Given the description of an element on the screen output the (x, y) to click on. 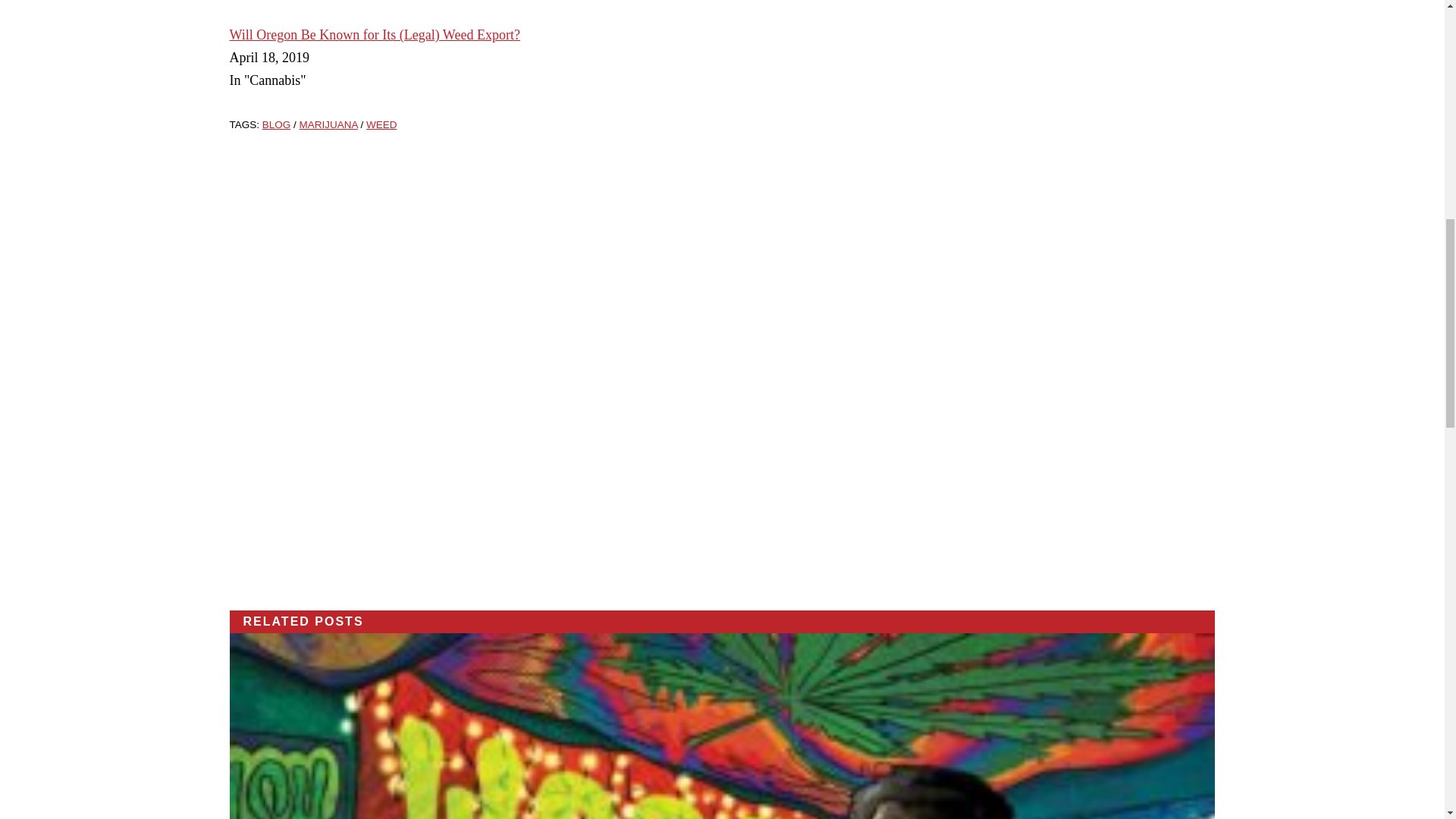
3rd party ad content (721, 362)
